Given the description of an element on the screen output the (x, y) to click on. 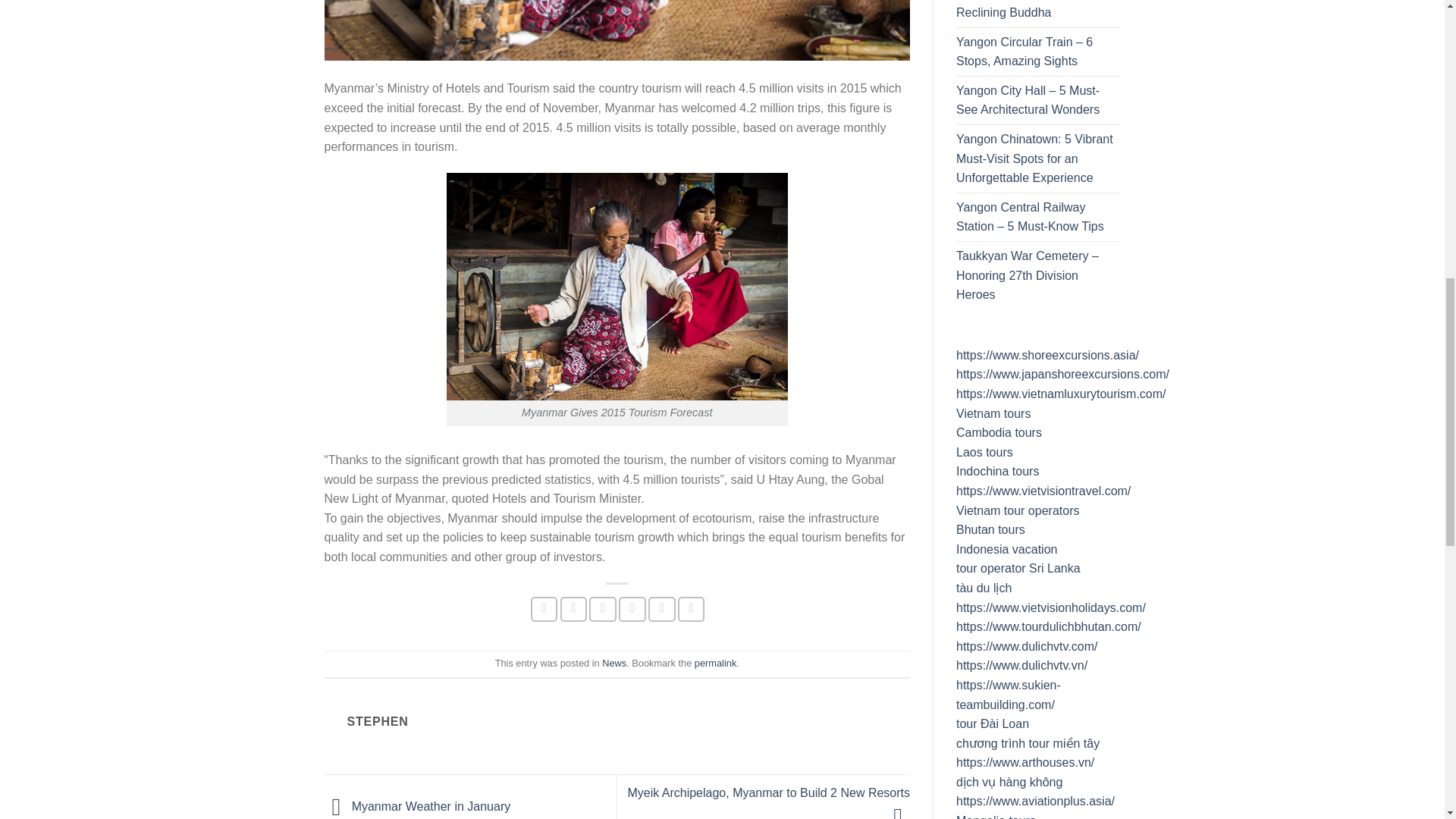
Share on Twitter (574, 609)
Cambodia tours (999, 431)
Share on Facebook (544, 609)
Pin on Pinterest (632, 609)
Email to a Friend (602, 609)
Vietnam tours (993, 413)
Share on Tumblr (661, 609)
Permalink to Myanmar Gives 2015 Tourism Forecast (715, 663)
Share on Telegram (691, 609)
